Given the description of an element on the screen output the (x, y) to click on. 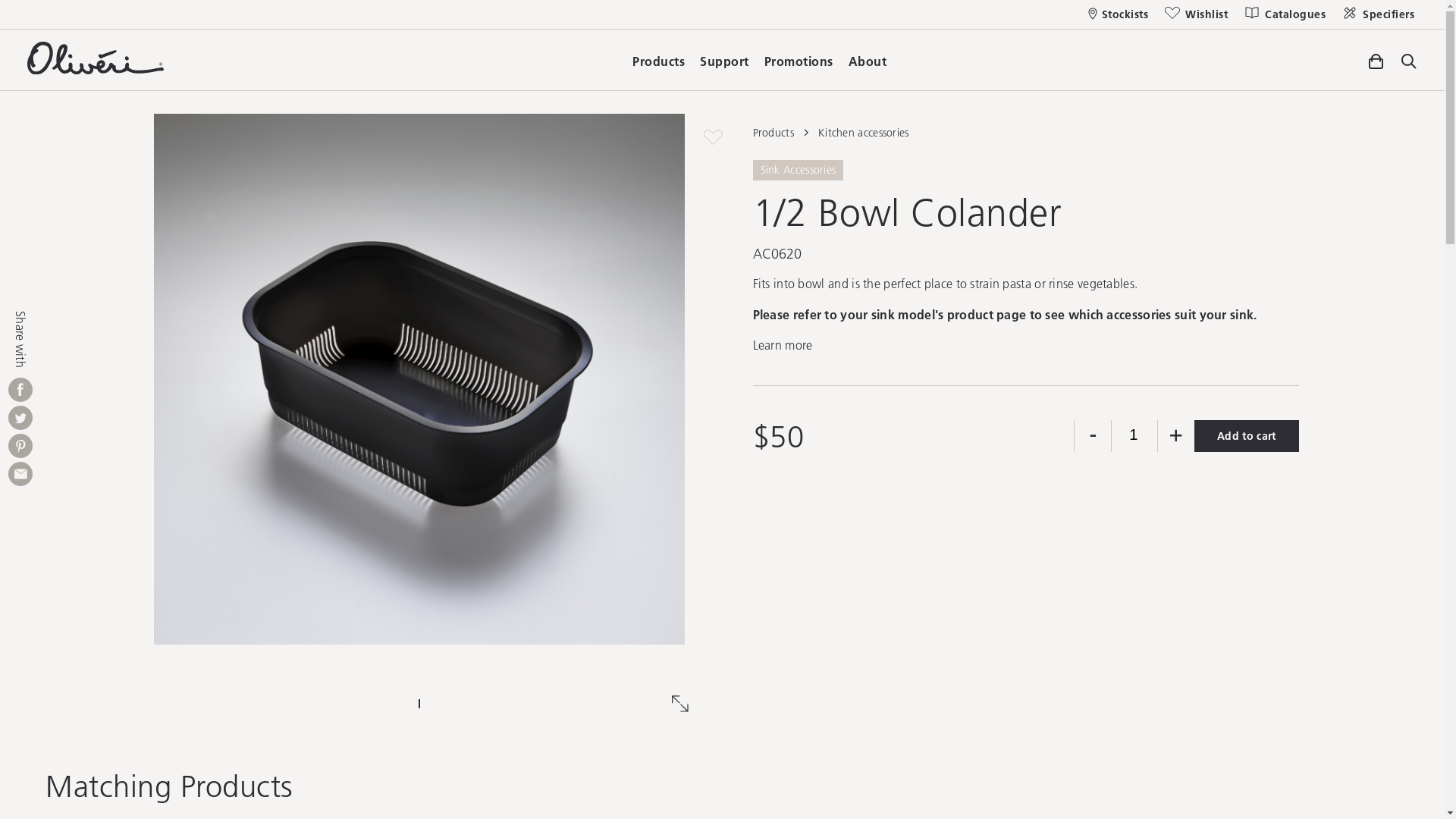
View slide 1 Element type: text (419, 703)
Go Element type: text (924, 47)
Sink Accessories Element type: text (797, 168)
Oliveri Element type: hover (95, 69)
Learn more Element type: text (782, 344)
Specifiers Element type: text (1377, 14)
Products Element type: text (658, 57)
Log in Element type: text (780, 537)
Add to cart Element type: text (1246, 435)
About Element type: text (867, 57)
Wishlist Element type: text (1195, 14)
Catalogues Element type: text (1284, 14)
Kitchen accessories Element type: text (863, 132)
Promotions Element type: text (798, 57)
Stockists Element type: text (1117, 14)
Support Element type: text (724, 57)
